Given the description of an element on the screen output the (x, y) to click on. 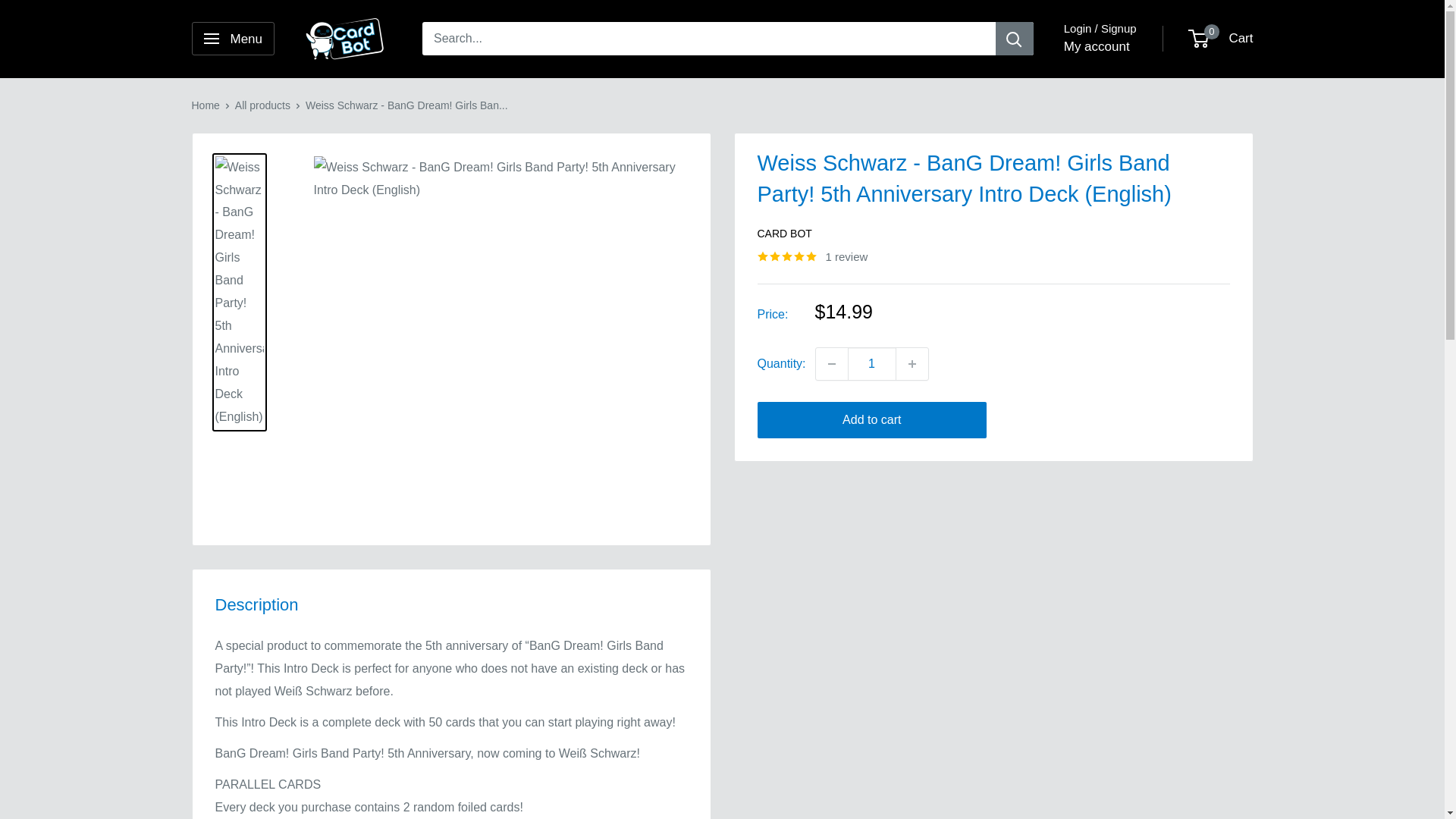
Decrease quantity by 1 (831, 364)
Increase quantity by 1 (912, 364)
1 (871, 364)
